Given the description of an element on the screen output the (x, y) to click on. 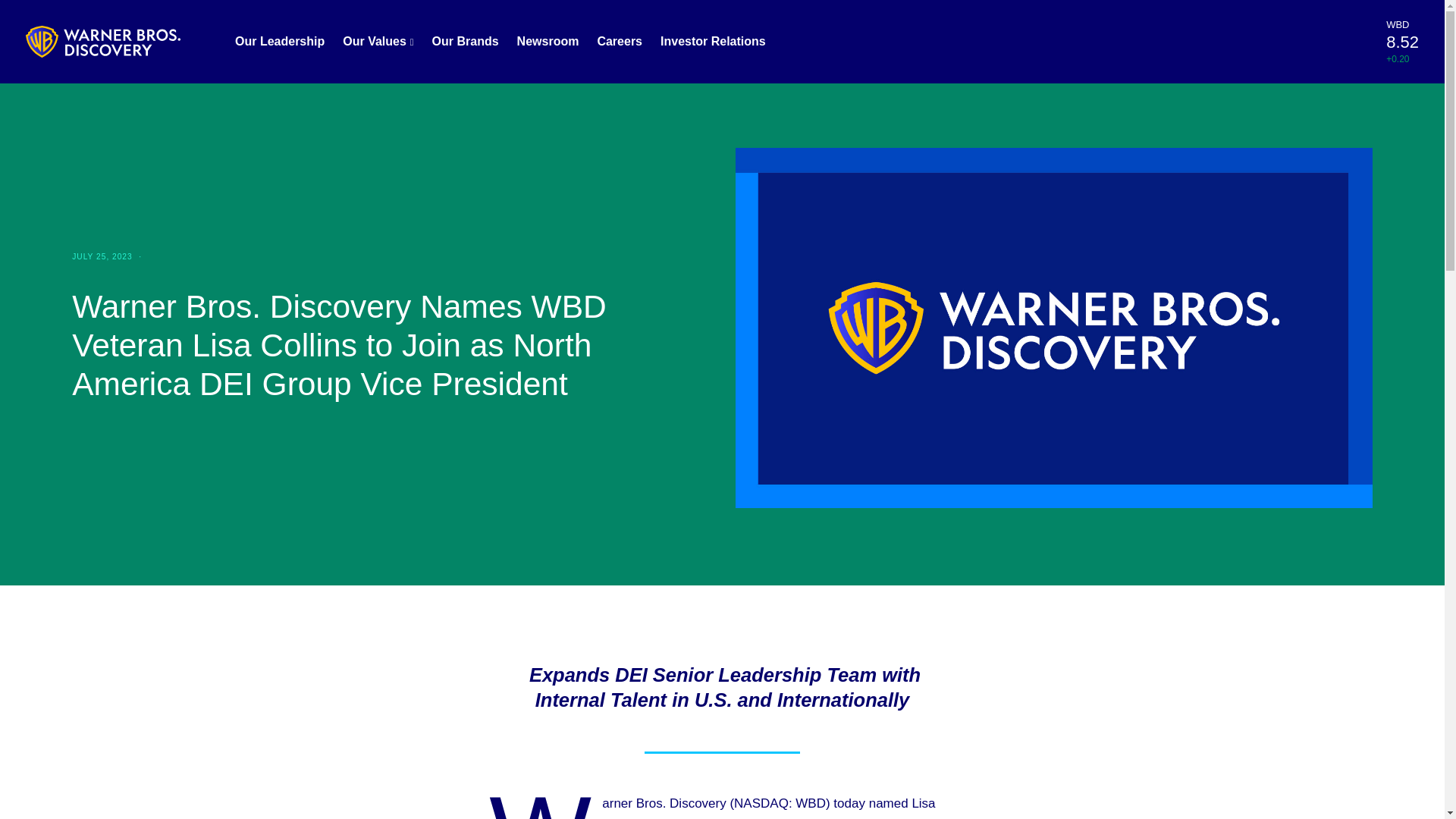
Careers (619, 41)
Our Leadership (279, 41)
Go to Warner Bros. Discovery Home (103, 40)
Our Brands (465, 41)
Our Values (377, 41)
Newsroom (547, 41)
Investor Relations (713, 41)
